Given the description of an element on the screen output the (x, y) to click on. 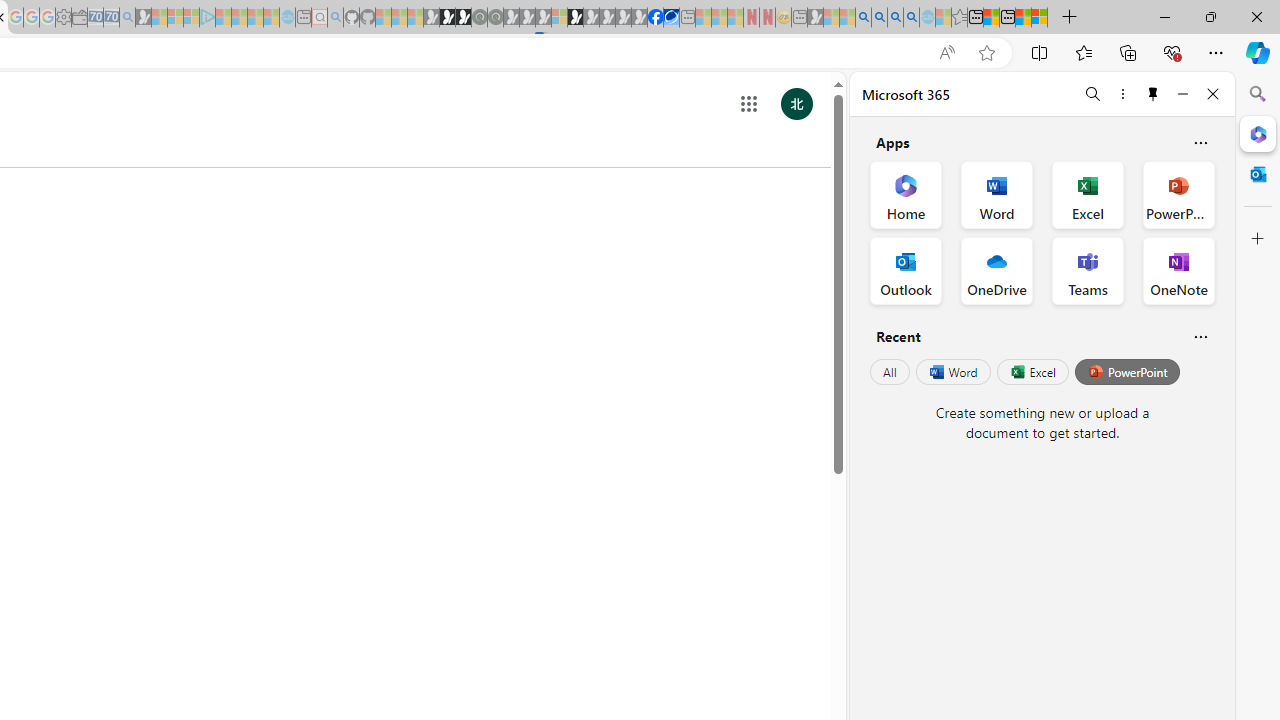
Nordace | Facebook (655, 17)
Excel (1031, 372)
Is this helpful? (1200, 336)
PowerPoint Office App (1178, 194)
Favorites - Sleeping (959, 17)
Aberdeen, Hong Kong SAR weather forecast | Microsoft Weather (991, 17)
